Given the description of an element on the screen output the (x, y) to click on. 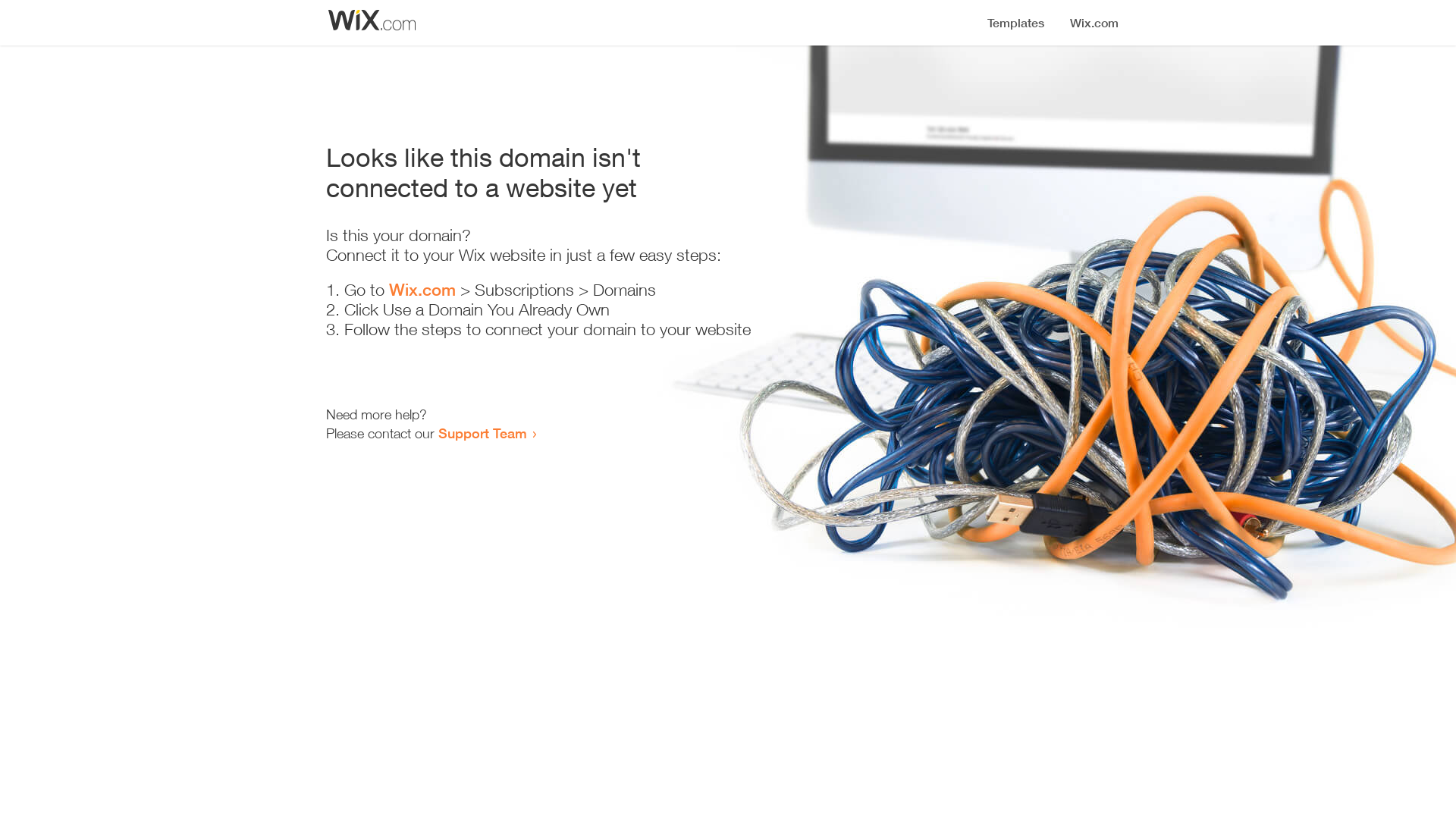
Wix.com Element type: text (422, 289)
Support Team Element type: text (482, 432)
